Given the description of an element on the screen output the (x, y) to click on. 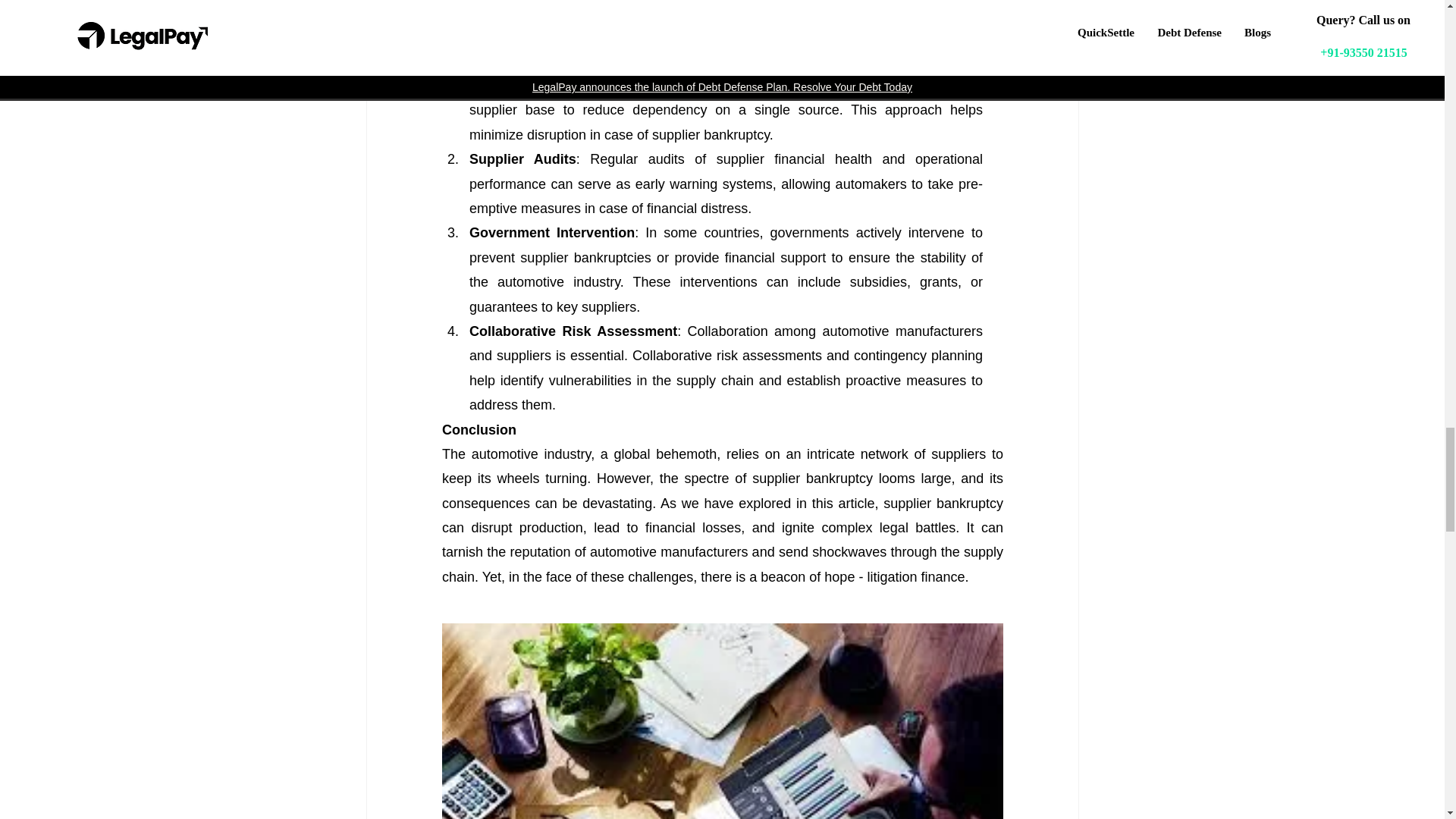
NCLT (772, 36)
